Given the description of an element on the screen output the (x, y) to click on. 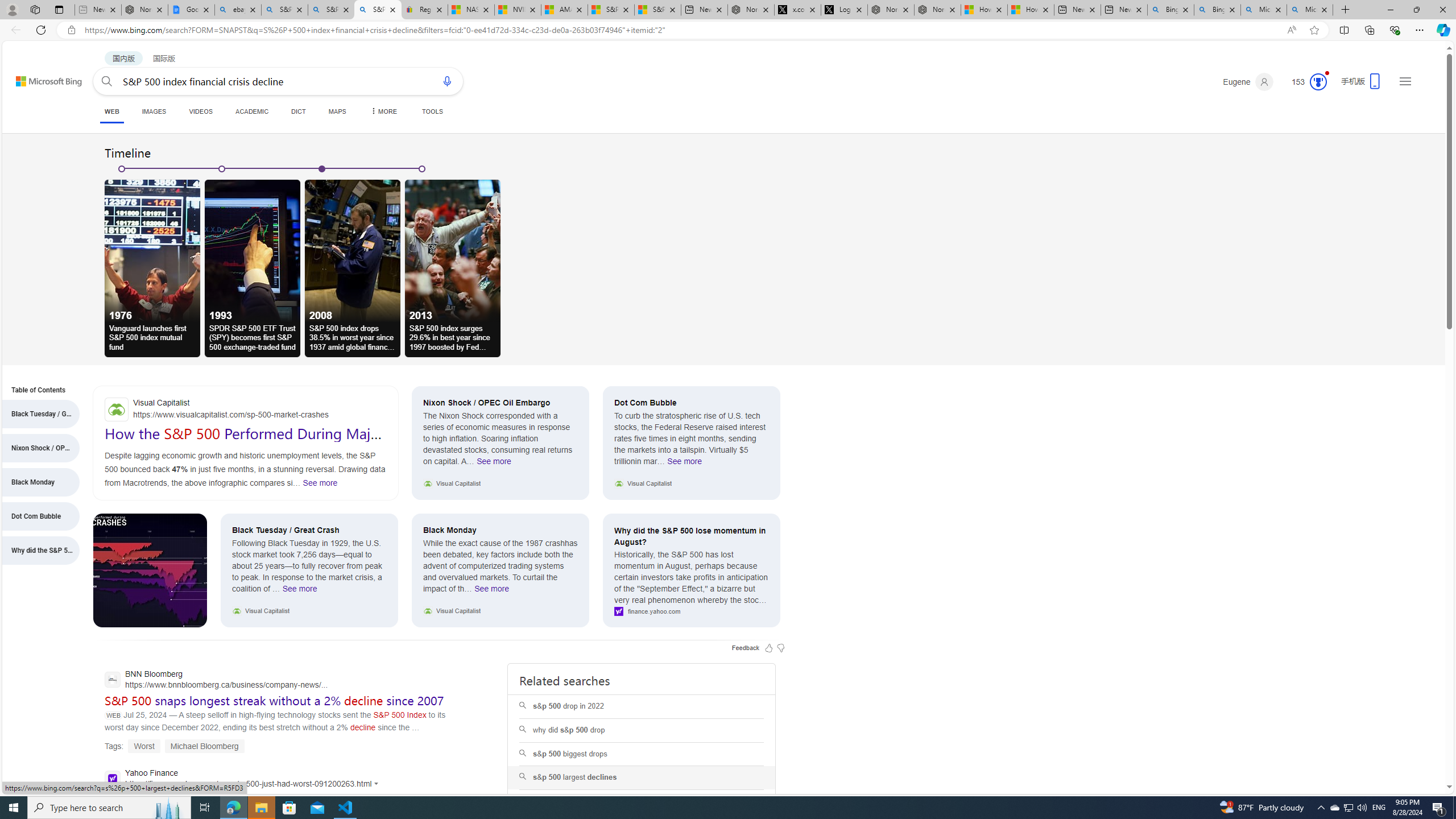
Microsoft Rewards 153 (1304, 81)
How to Use a Monitor With Your Closed Laptop (1030, 9)
WEB (111, 111)
TOOLS (431, 111)
See more Black Monday (491, 591)
DICT (298, 111)
See more SnippetTab (319, 482)
IMAGES (153, 111)
Feedback Like (768, 647)
New tab - Sleeping (97, 9)
